Given the description of an element on the screen output the (x, y) to click on. 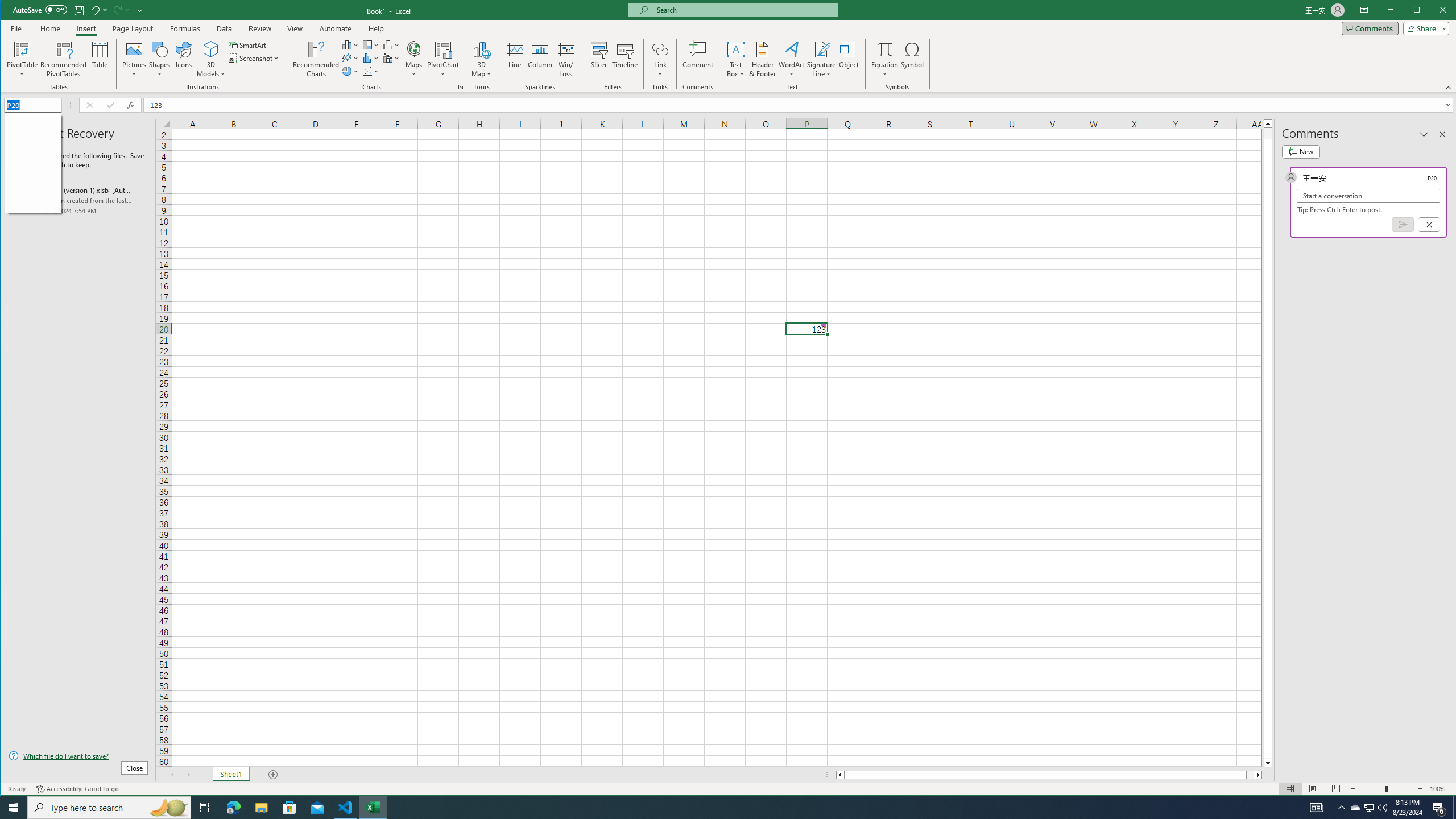
Shapes (159, 59)
WordArt (791, 59)
AutomationID: 4105 (1316, 807)
Signature Line (821, 48)
Recommended Charts (460, 86)
Insert Pie or Doughnut Chart (350, 70)
Page up (1267, 132)
Object... (848, 59)
Insert Statistic Chart (371, 57)
